Given the description of an element on the screen output the (x, y) to click on. 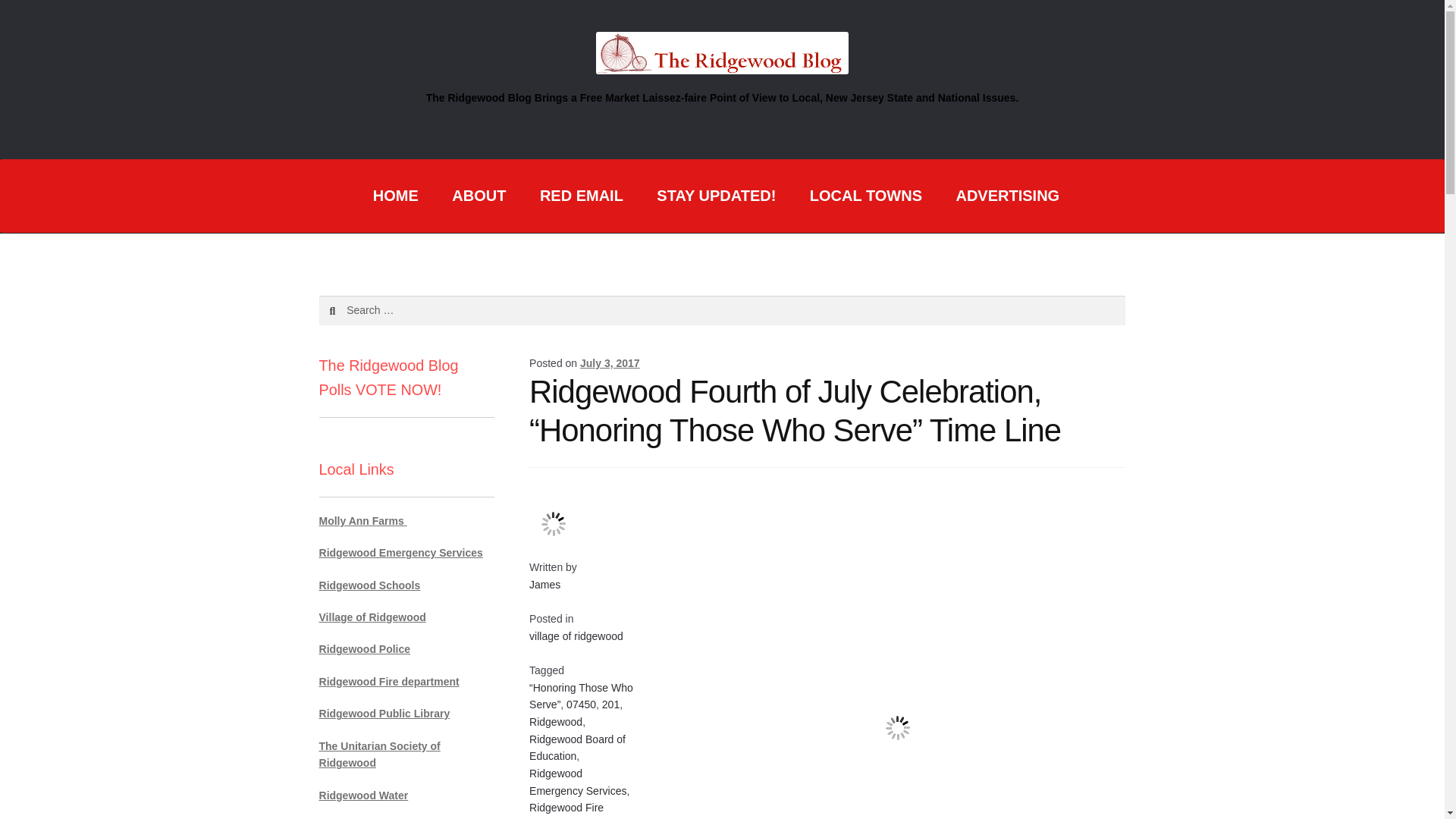
ABOUT (478, 195)
201 (611, 704)
Ridgewood Fire Department (566, 810)
July 3, 2017 (609, 363)
ADVERTISING (1007, 195)
RED EMAIL (581, 195)
Ridgewood Board of Education (577, 747)
LOCAL NJ Towns News (865, 195)
HOME (395, 195)
